Given the description of an element on the screen output the (x, y) to click on. 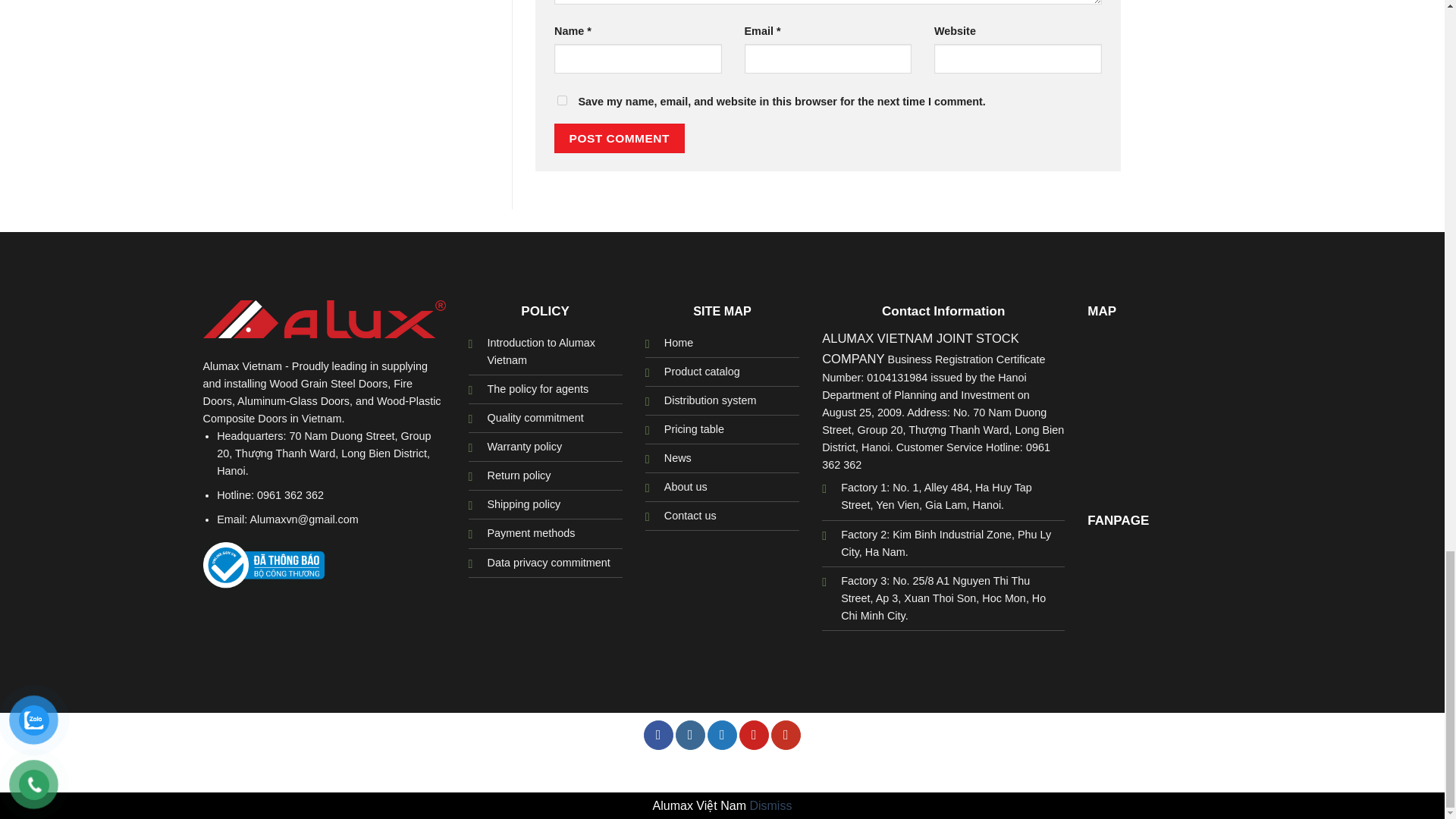
Post Comment (619, 138)
Follow on Instagram (689, 735)
yes (562, 100)
Follow on Facebook (657, 735)
